Given the description of an element on the screen output the (x, y) to click on. 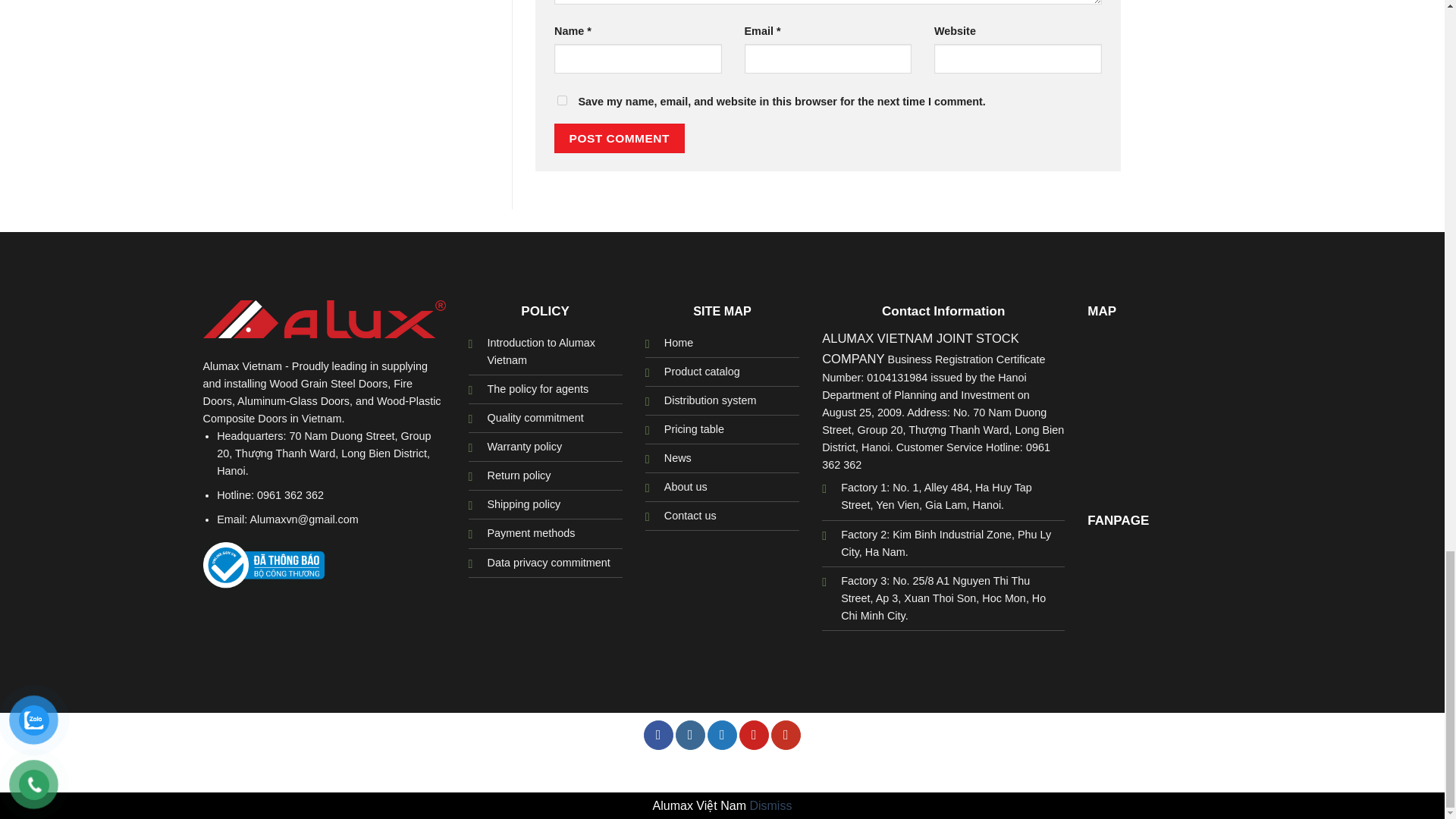
Post Comment (619, 138)
Follow on Instagram (689, 735)
yes (562, 100)
Follow on Facebook (657, 735)
